Given the description of an element on the screen output the (x, y) to click on. 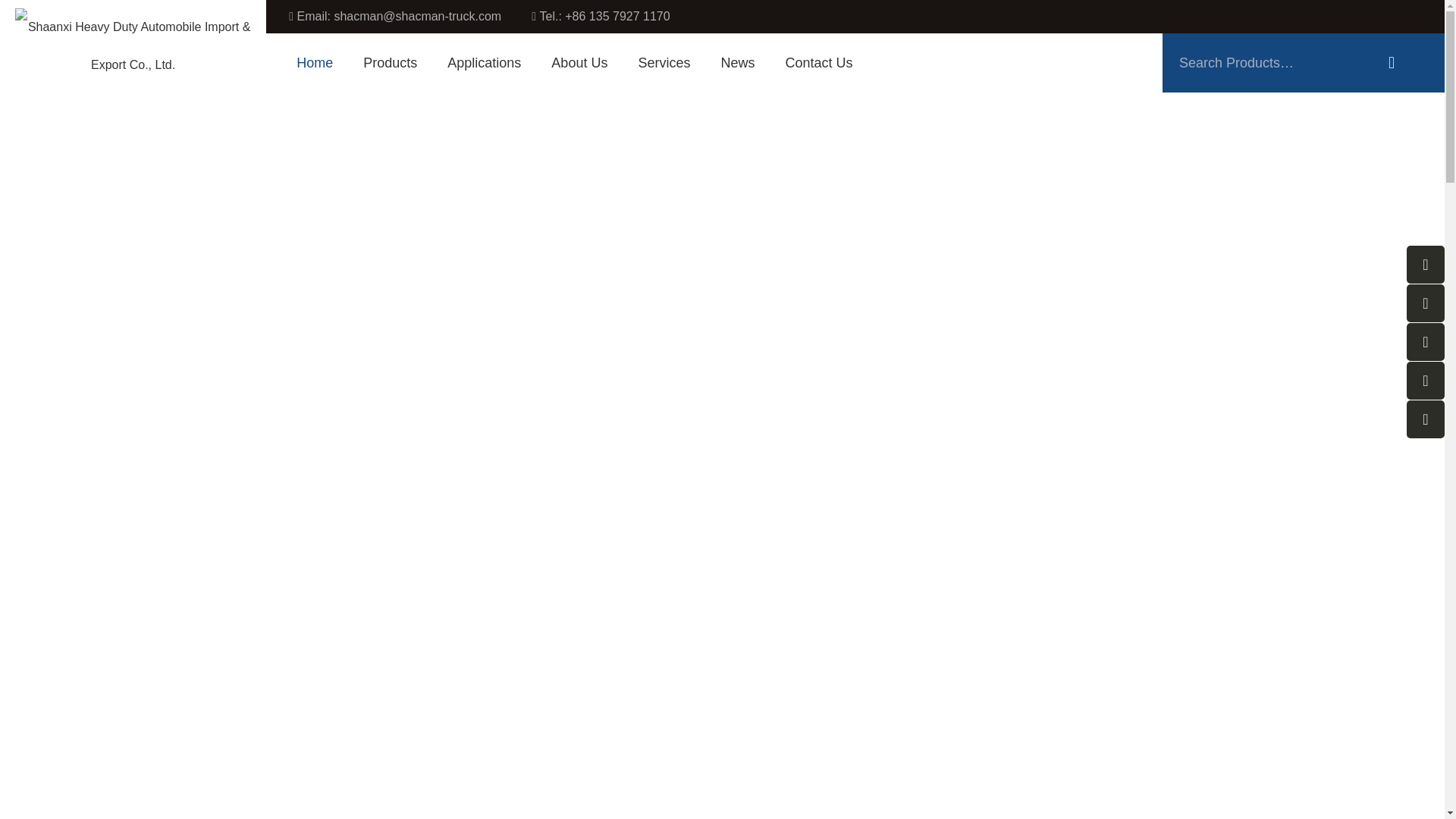
About Us (579, 62)
Products (389, 62)
Applications (483, 62)
Contact Us (817, 62)
